Given the description of an element on the screen output the (x, y) to click on. 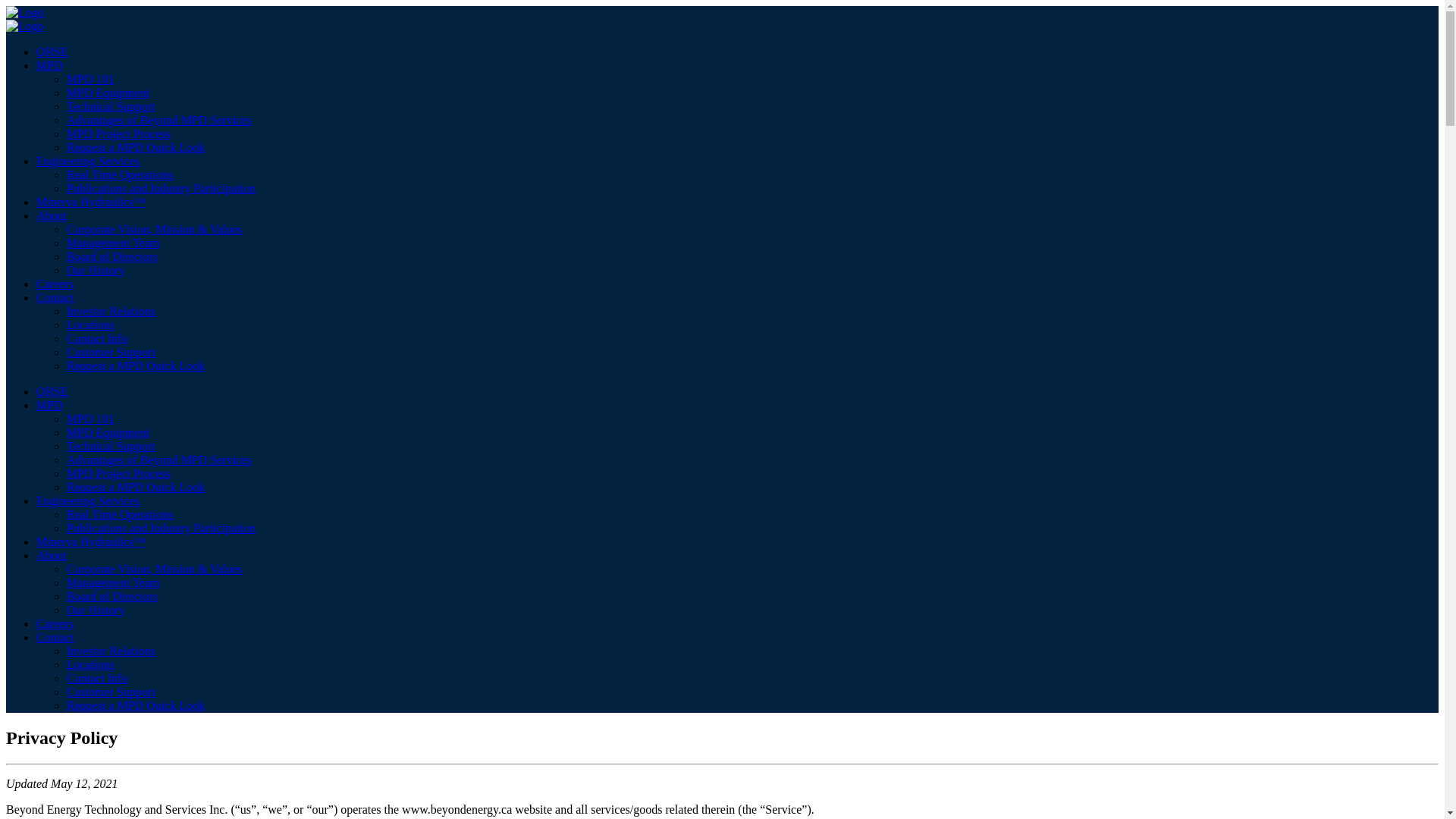
Management Team Element type: text (113, 242)
Our History Element type: text (95, 609)
Contact Info Element type: text (96, 338)
Real Time Operations Element type: text (119, 174)
Locations Element type: text (90, 324)
Customer Support Element type: text (110, 351)
Corporate Vision, Mission & Values Element type: text (154, 228)
QHSE Element type: text (52, 391)
Engineering Services Element type: text (87, 160)
Customer Support Element type: text (110, 691)
Real Time Operations Element type: text (119, 514)
MPD Equipment Element type: text (107, 432)
Board of Directors Element type: text (111, 595)
About Element type: text (51, 215)
Engineering Services Element type: text (87, 500)
MPD 101 Element type: text (90, 418)
Technical Support Element type: text (110, 106)
Request a MPD Quick Look Element type: text (135, 486)
Careers Element type: text (54, 283)
MPD Element type: text (49, 65)
Careers Element type: text (54, 623)
Publications and Industry Participation Element type: text (160, 527)
Locations Element type: text (90, 664)
Request a MPD Quick Look Element type: text (135, 705)
Advantages of Beyond MPD Services Element type: text (158, 119)
Advantages of Beyond MPD Services Element type: text (158, 459)
Contact Info Element type: text (96, 677)
MPD 101 Element type: text (90, 78)
Publications and Industry Participation Element type: text (160, 188)
MPD Element type: text (49, 404)
Technical Support Element type: text (110, 445)
MPD Project Process Element type: text (118, 133)
Request a MPD Quick Look Element type: text (135, 147)
Investor Relations Element type: text (110, 650)
MPD Project Process Element type: text (118, 473)
QHSE Element type: text (52, 51)
Our History Element type: text (95, 269)
About Element type: text (51, 555)
Investor Relations Element type: text (110, 310)
Corporate Vision, Mission & Values Element type: text (154, 568)
MPD Equipment Element type: text (107, 92)
Request a MPD Quick Look Element type: text (135, 365)
Contact Element type: text (55, 636)
Contact Element type: text (55, 297)
Board of Directors Element type: text (111, 256)
Management Team Element type: text (113, 582)
